Given the description of an element on the screen output the (x, y) to click on. 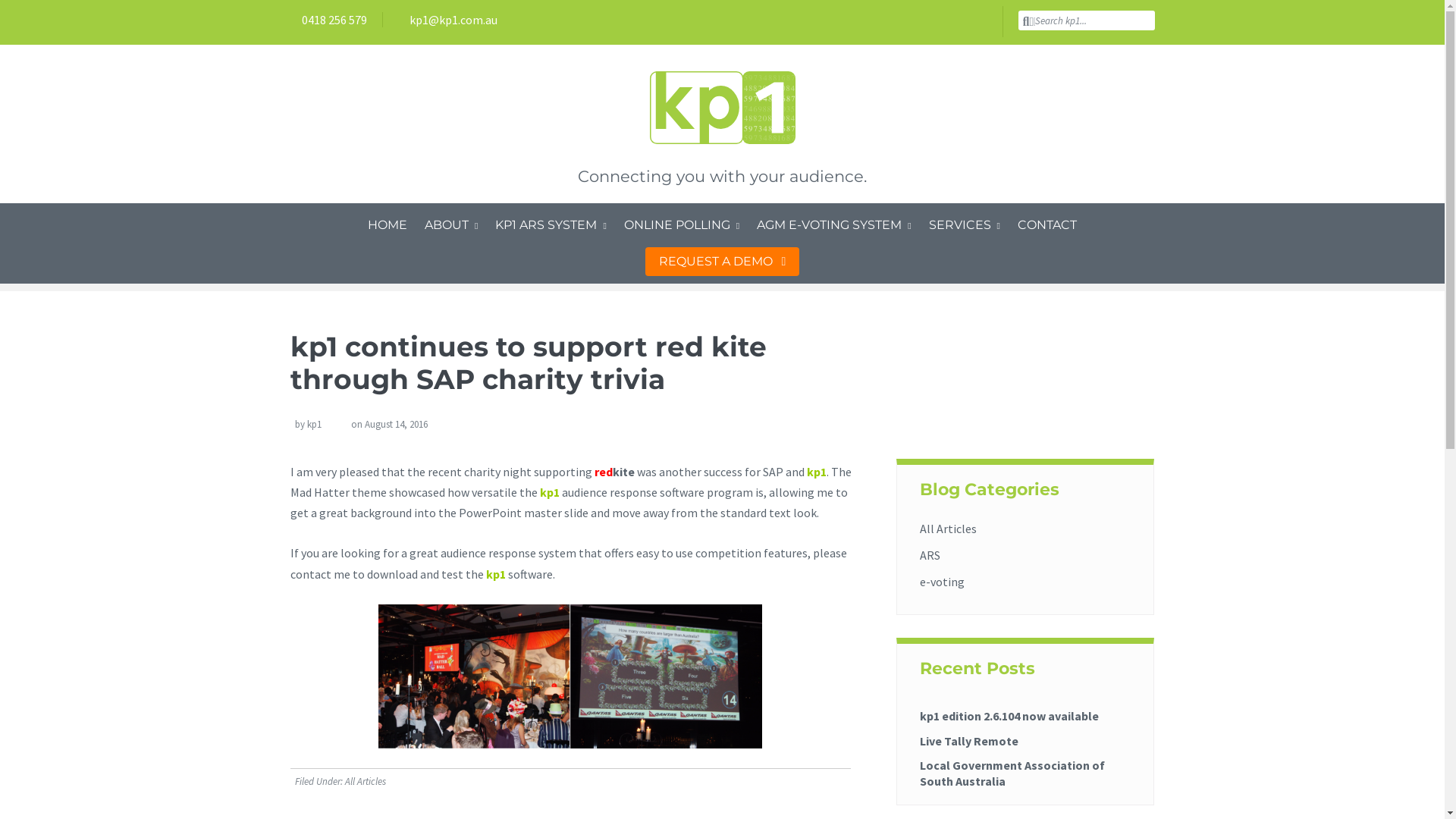
Local Government Association of South Australia Element type: text (1011, 768)
ONLINE POLLING Element type: text (681, 225)
kp1 Element type: text (313, 423)
0418 256 579 Element type: text (327, 19)
e-voting Element type: text (941, 581)
REQUEST A DEMO Element type: text (722, 261)
All Articles Element type: text (947, 528)
All Articles Element type: text (364, 781)
SERVICES Element type: text (964, 225)
CONTACT Element type: text (1047, 225)
kp1@kp1.com.au Element type: text (446, 19)
Live Tally Remote Element type: text (968, 736)
AGM E-VOTING SYSTEM Element type: text (833, 225)
kp1 edition 2.6.104 now available Element type: text (1008, 711)
HOME Element type: text (387, 225)
ARS Element type: text (929, 554)
ABOUT Element type: text (451, 225)
KP1 ARS SYSTEM Element type: text (550, 225)
